Given the description of an element on the screen output the (x, y) to click on. 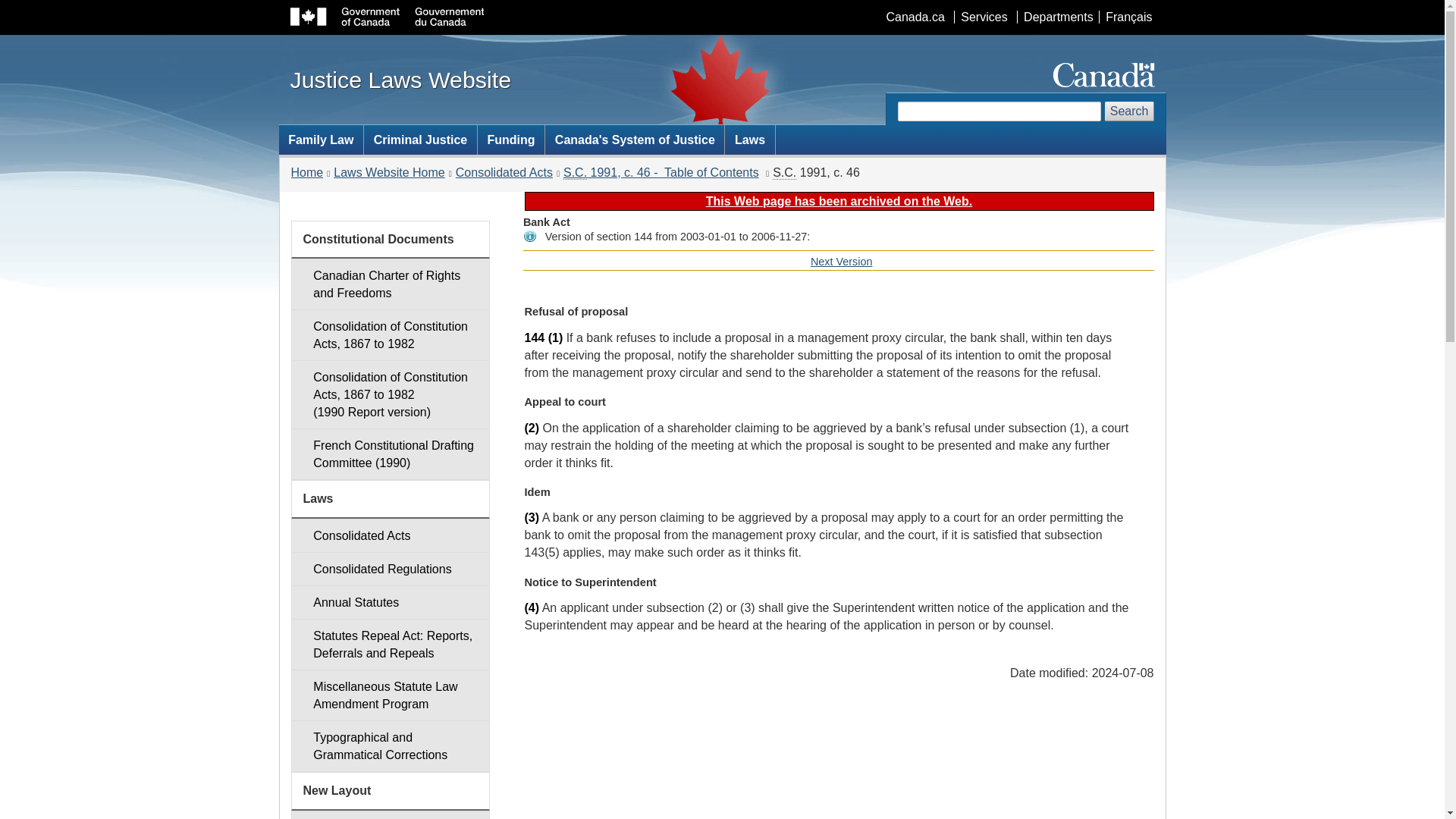
Criminal Justice (420, 139)
New Layout for Legislation (390, 814)
Family Law (321, 139)
This Web page has been archived on the Web. (839, 201)
Statutes Repeal Act: Reports, Deferrals and Repeals (390, 644)
Statutes of Canada (574, 172)
Consolidated Regulations (390, 569)
Services (983, 16)
Laws (749, 139)
Funding (510, 139)
Laws Website Home (388, 172)
Canada.ca (914, 16)
Annual Statutes (390, 602)
144 (534, 337)
Departments (1057, 16)
